Given the description of an element on the screen output the (x, y) to click on. 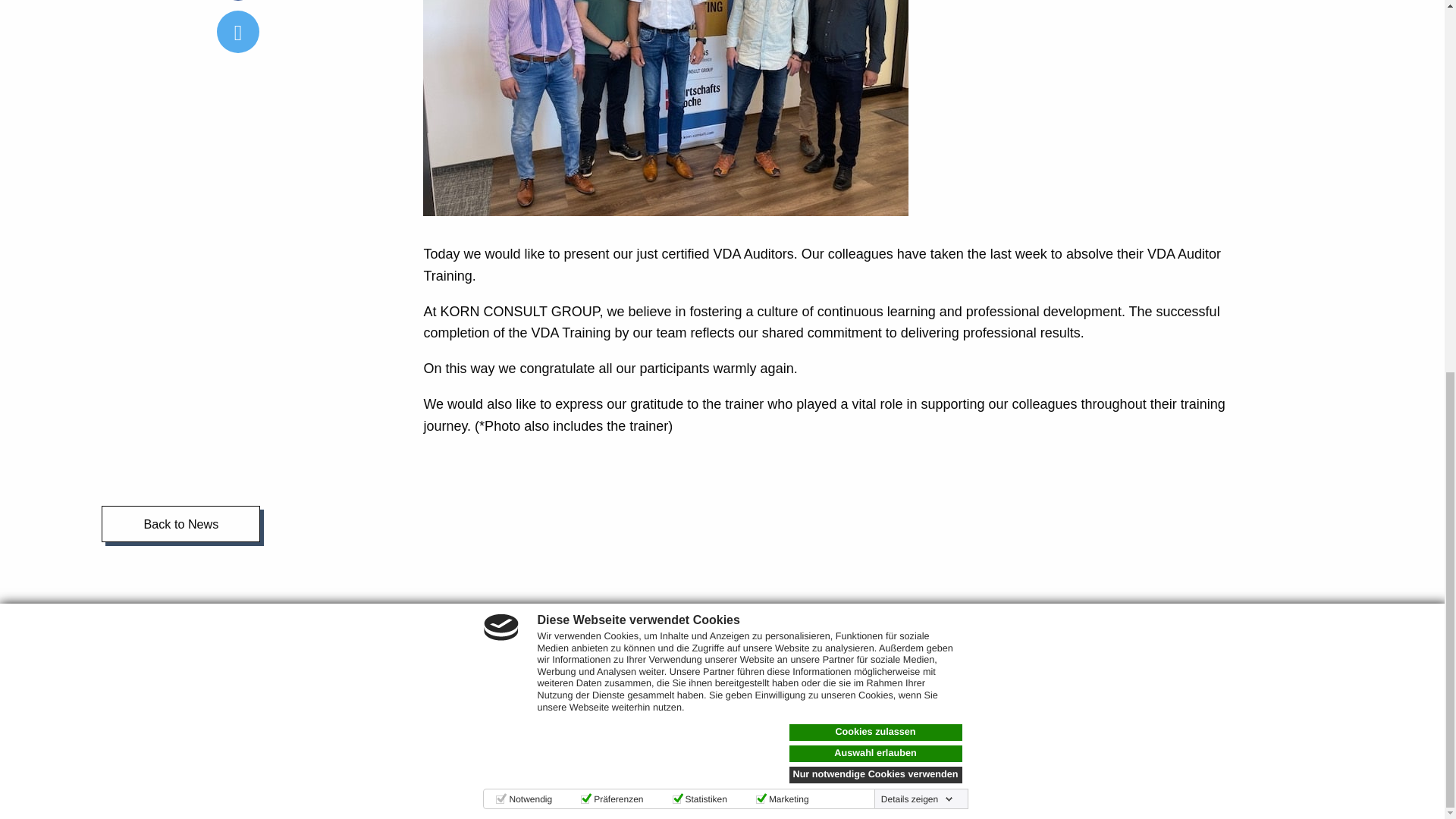
Details zeigen (916, 119)
Nur notwendige Cookies verwenden (874, 94)
Auswahl erlauben (874, 73)
Cookies zulassen (874, 52)
